Given the description of an element on the screen output the (x, y) to click on. 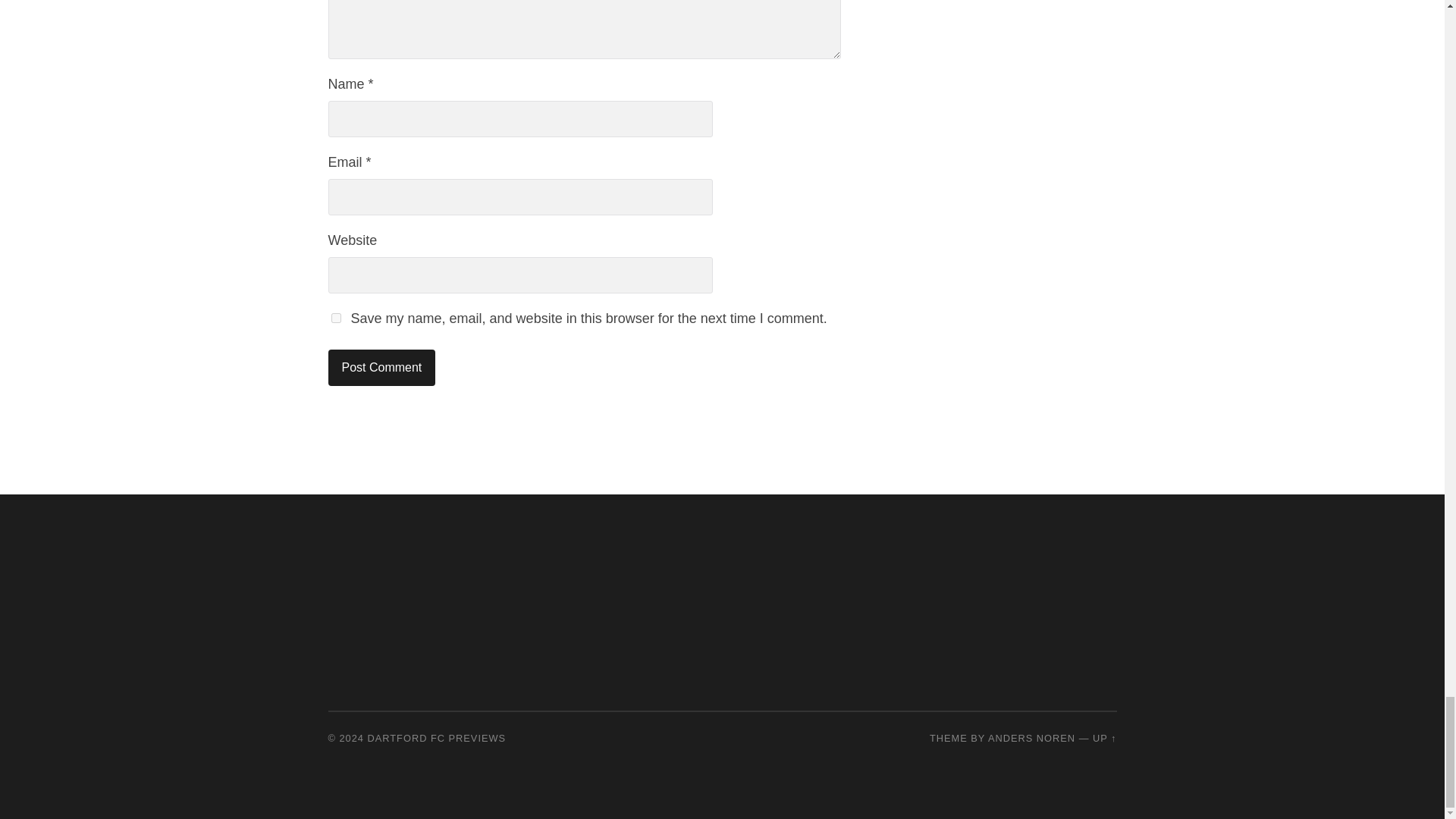
Post Comment (381, 367)
yes (335, 317)
To the top (1104, 737)
